Given the description of an element on the screen output the (x, y) to click on. 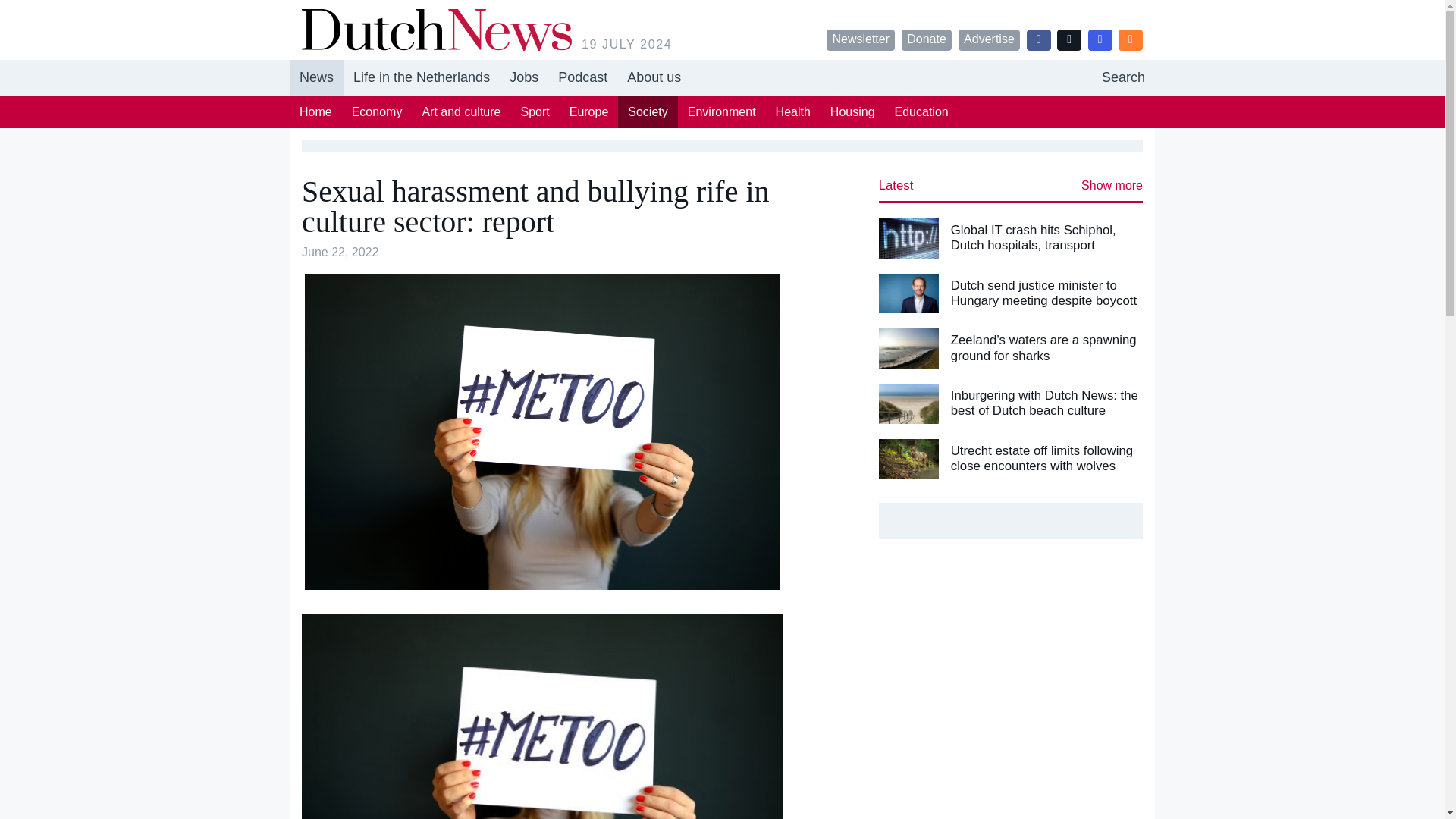
Sport (535, 111)
Newsletter (861, 39)
Europe (588, 111)
Donate (926, 39)
Advertise (989, 39)
Life in the Netherlands (421, 77)
Society (647, 111)
Search (1123, 77)
Jobs (523, 77)
Health (793, 111)
About us (721, 77)
Podcast (653, 77)
Housing (582, 77)
Education (853, 111)
